Given the description of an element on the screen output the (x, y) to click on. 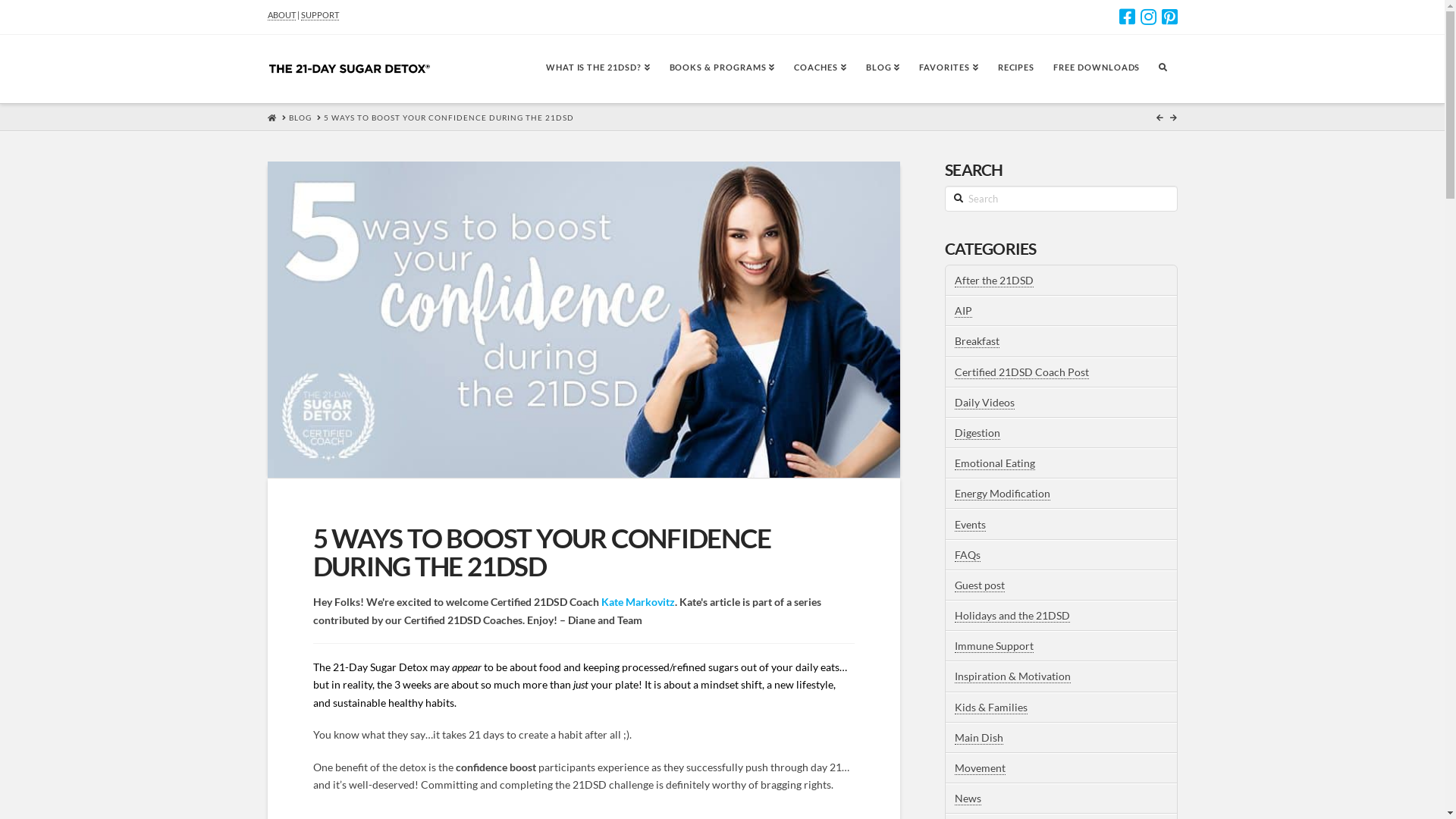
5 WAYS TO BOOST YOUR CONFIDENCE DURING THE 21DSD Element type: text (448, 117)
Guest post Element type: text (979, 585)
Emotional Eating Element type: text (994, 463)
Facebook Element type: hover (1127, 16)
Movement Element type: text (979, 768)
Energy Modification Element type: text (1002, 493)
Certified 21DSD Coach Post Element type: text (1021, 372)
FREE DOWNLOADS Element type: text (1095, 68)
BLOG Element type: text (883, 68)
Instagram Element type: hover (1148, 16)
News Element type: text (967, 798)
BOOKS & PROGRAMS Element type: text (721, 68)
Digestion Element type: text (977, 432)
ABOUT Element type: text (280, 14)
Immune Support Element type: text (993, 645)
HOME Element type: text (271, 117)
AIP Element type: text (963, 310)
FAQs Element type: text (967, 554)
COACHES Element type: text (819, 68)
After the 21DSD Element type: text (993, 280)
RECIPES Element type: text (1016, 68)
SUPPORT Element type: text (319, 14)
Breakfast Element type: text (976, 341)
Pinterest Element type: hover (1169, 16)
Main Dish Element type: text (978, 737)
Events Element type: text (969, 524)
FAVORITES Element type: text (948, 68)
Holidays and the 21DSD Element type: text (1012, 615)
Kids & Families Element type: text (990, 707)
Kate Markovitz Element type: text (637, 601)
Daily Videos Element type: text (984, 402)
WHAT IS THE 21DSD? Element type: text (597, 68)
BLOG Element type: text (299, 117)
Inspiration & Motivation Element type: text (1012, 676)
